Given the description of an element on the screen output the (x, y) to click on. 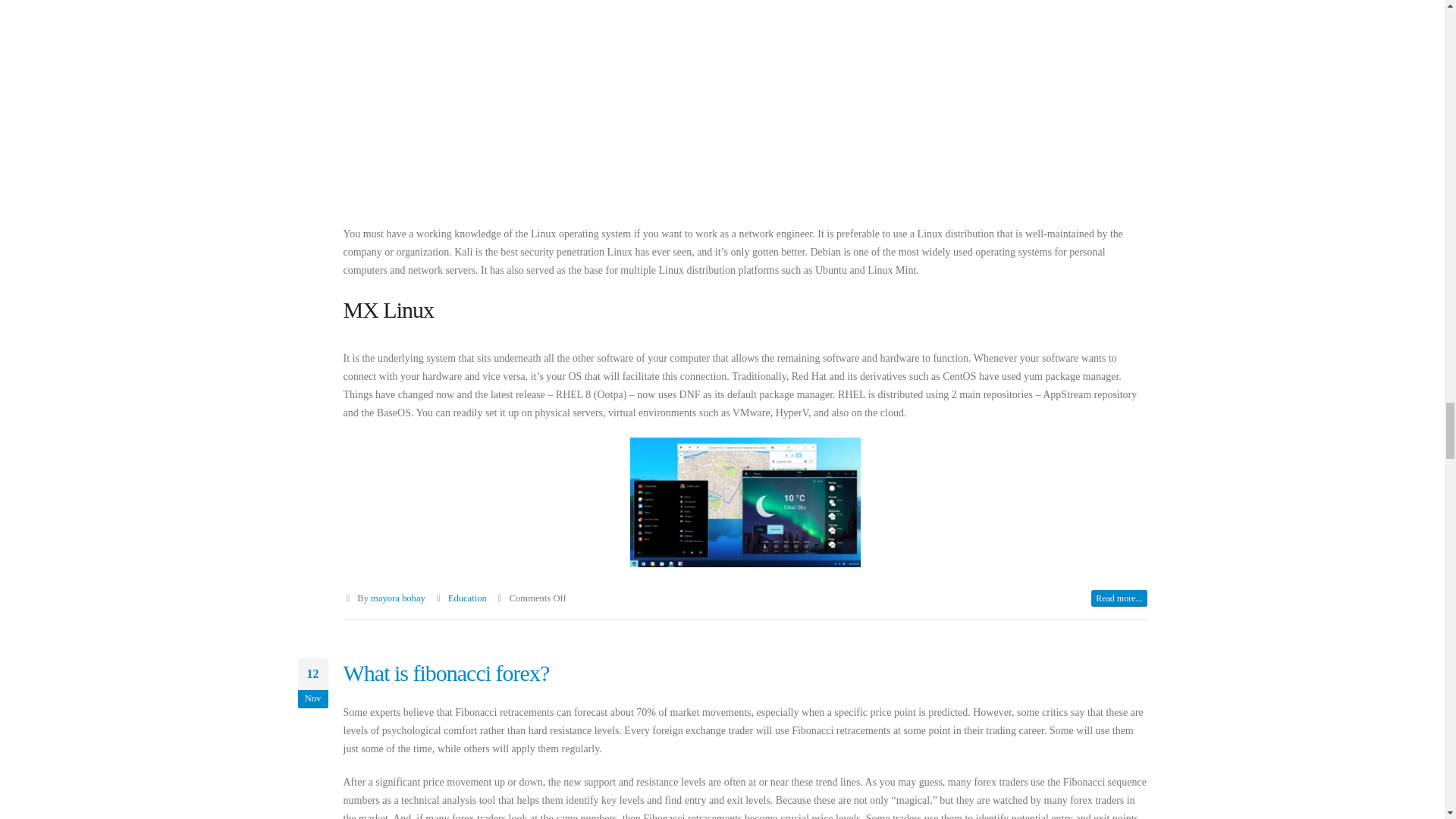
Posts by mayora bohay (398, 597)
